Given the description of an element on the screen output the (x, y) to click on. 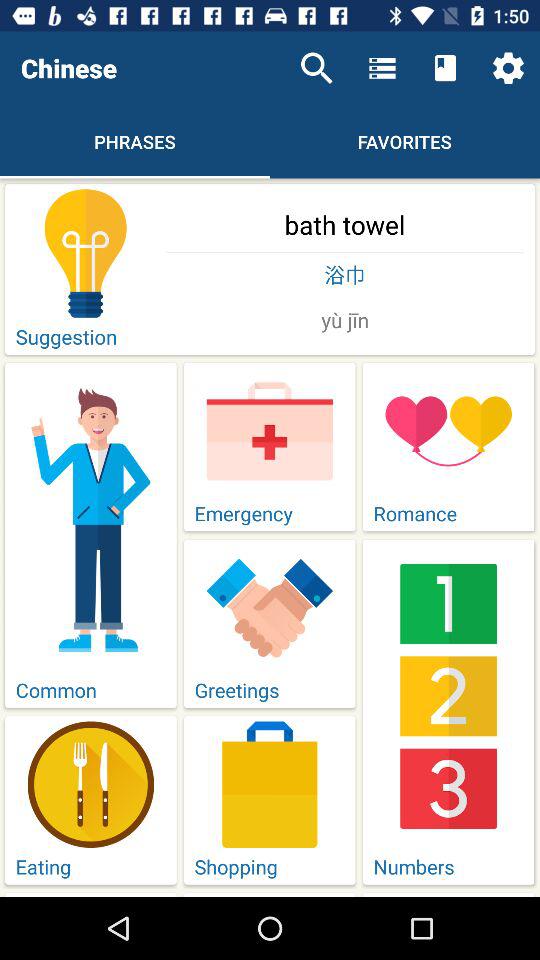
open icon above the favorites icon (444, 67)
